Given the description of an element on the screen output the (x, y) to click on. 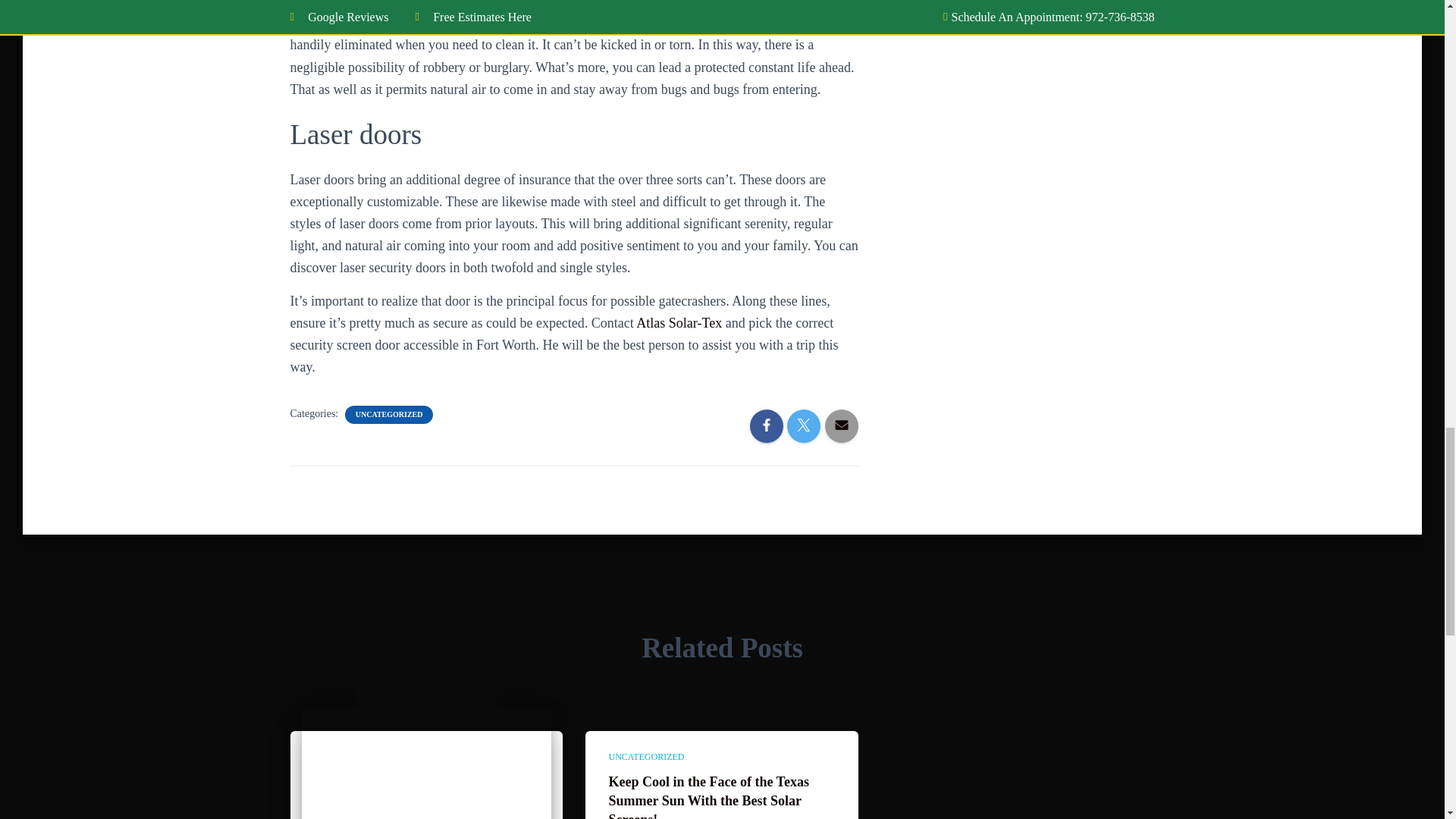
View all posts in Uncategorized (646, 756)
Atlas Solar-Tex (679, 322)
Use of Window and Door Solar Screen (426, 790)
UNCATEGORIZED (389, 414)
